Given the description of an element on the screen output the (x, y) to click on. 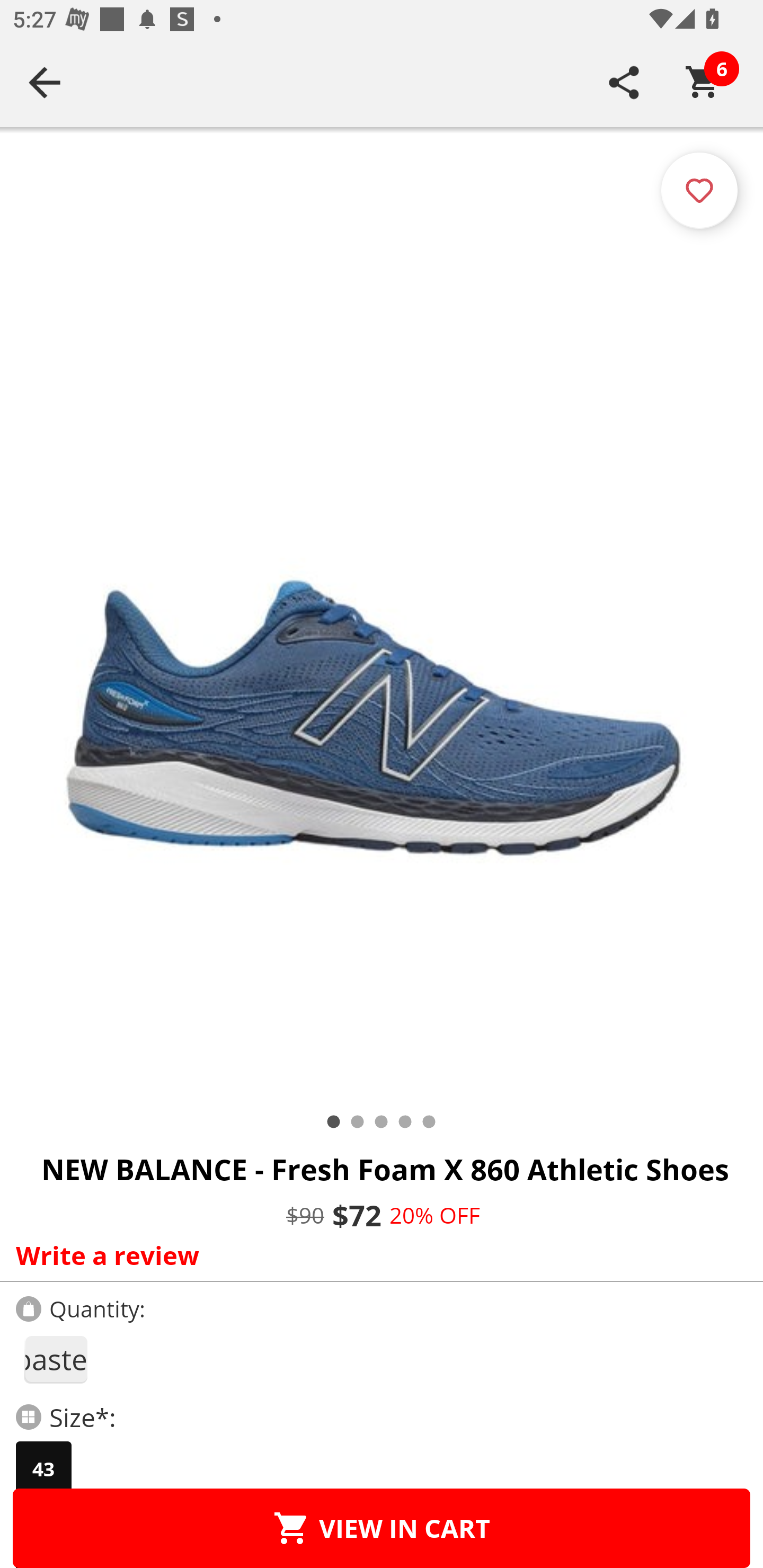
Navigate up (44, 82)
SHARE (623, 82)
Cart (703, 81)
Write a review (377, 1255)
1toothpaste (55, 1358)
43 (43, 1468)
VIEW IN CART (381, 1528)
